Given the description of an element on the screen output the (x, y) to click on. 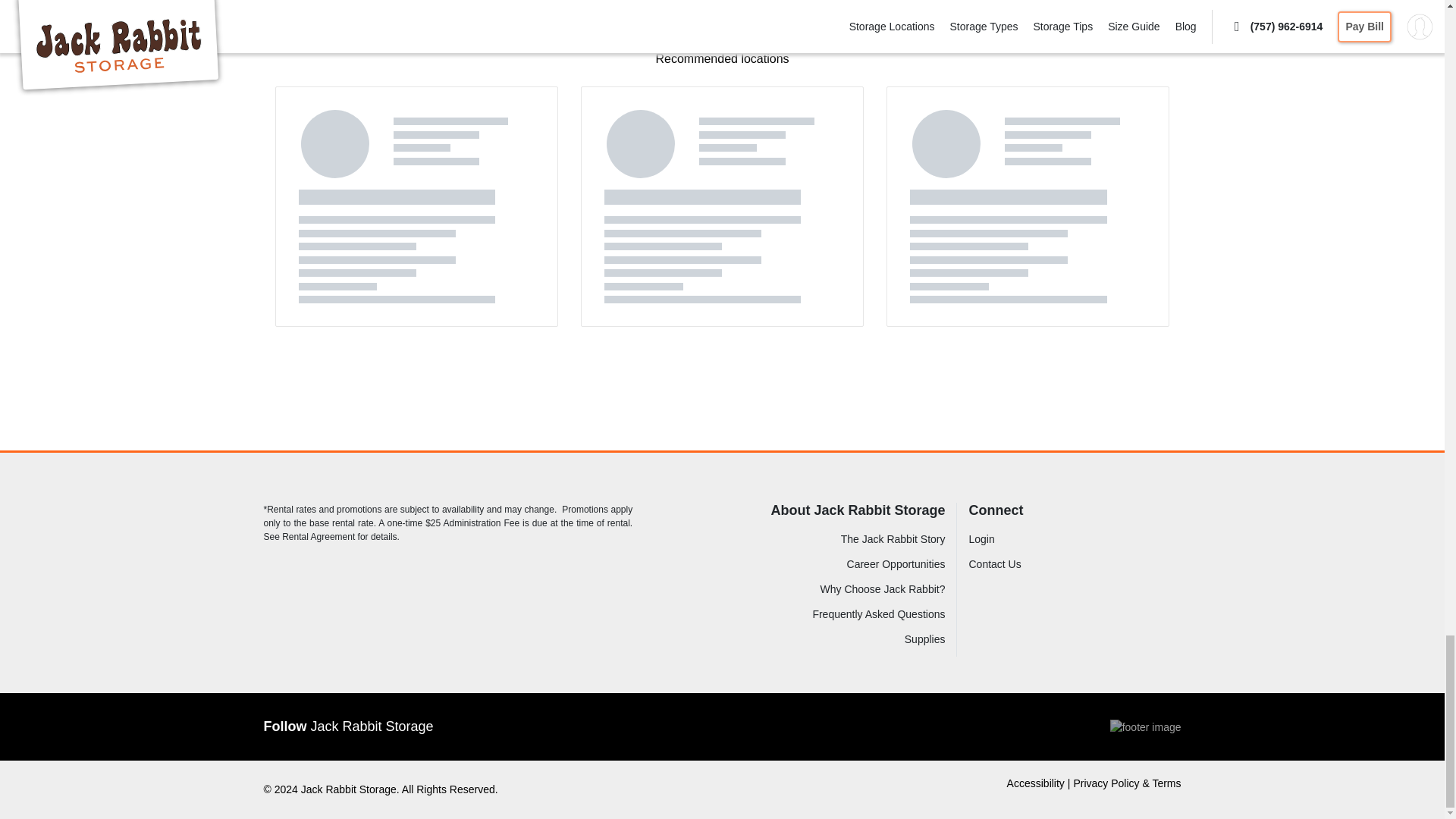
Contact Us (1035, 564)
